Given the description of an element on the screen output the (x, y) to click on. 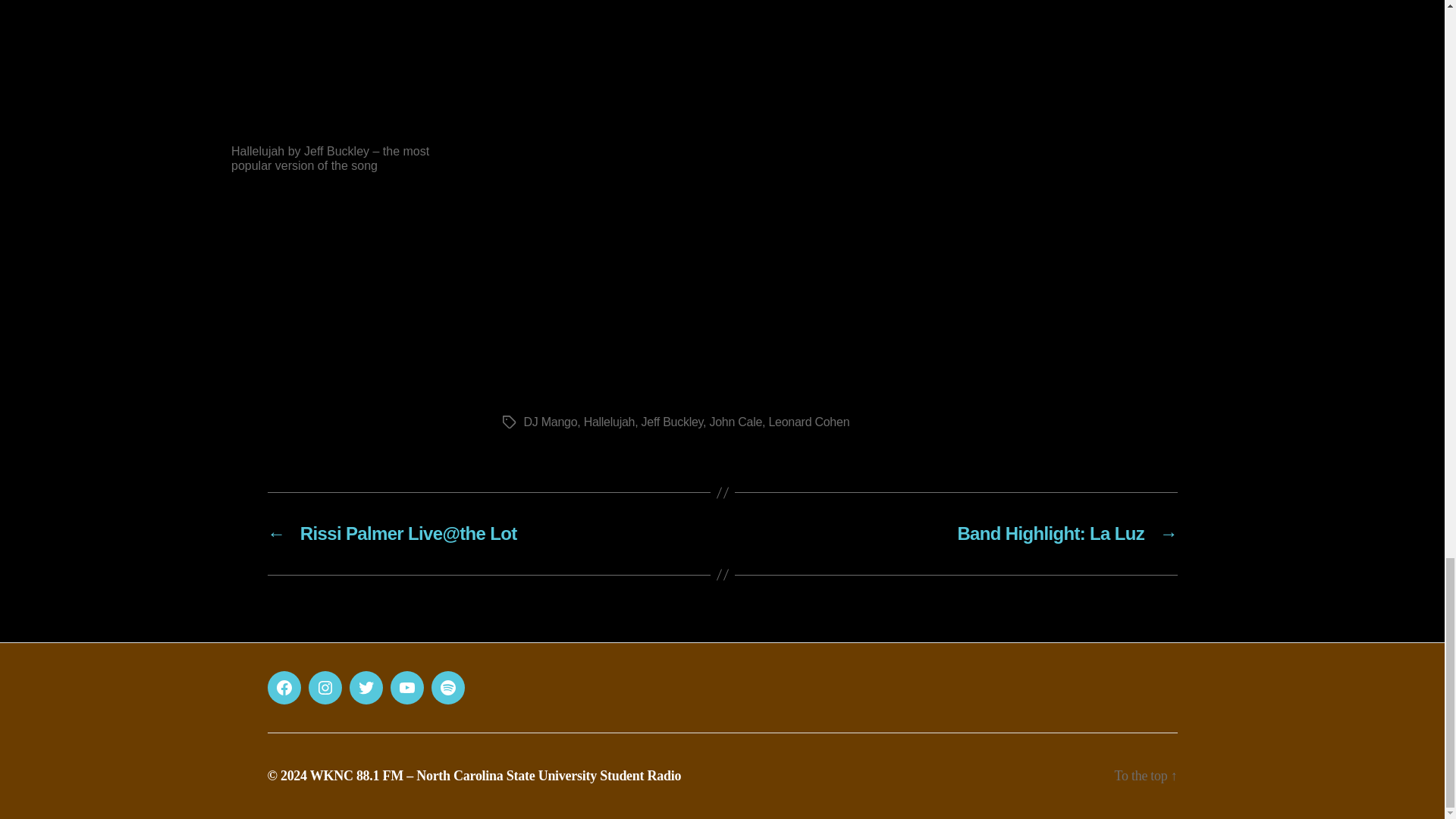
Spotify Embed: Hallelujah (341, 66)
